Given the description of an element on the screen output the (x, y) to click on. 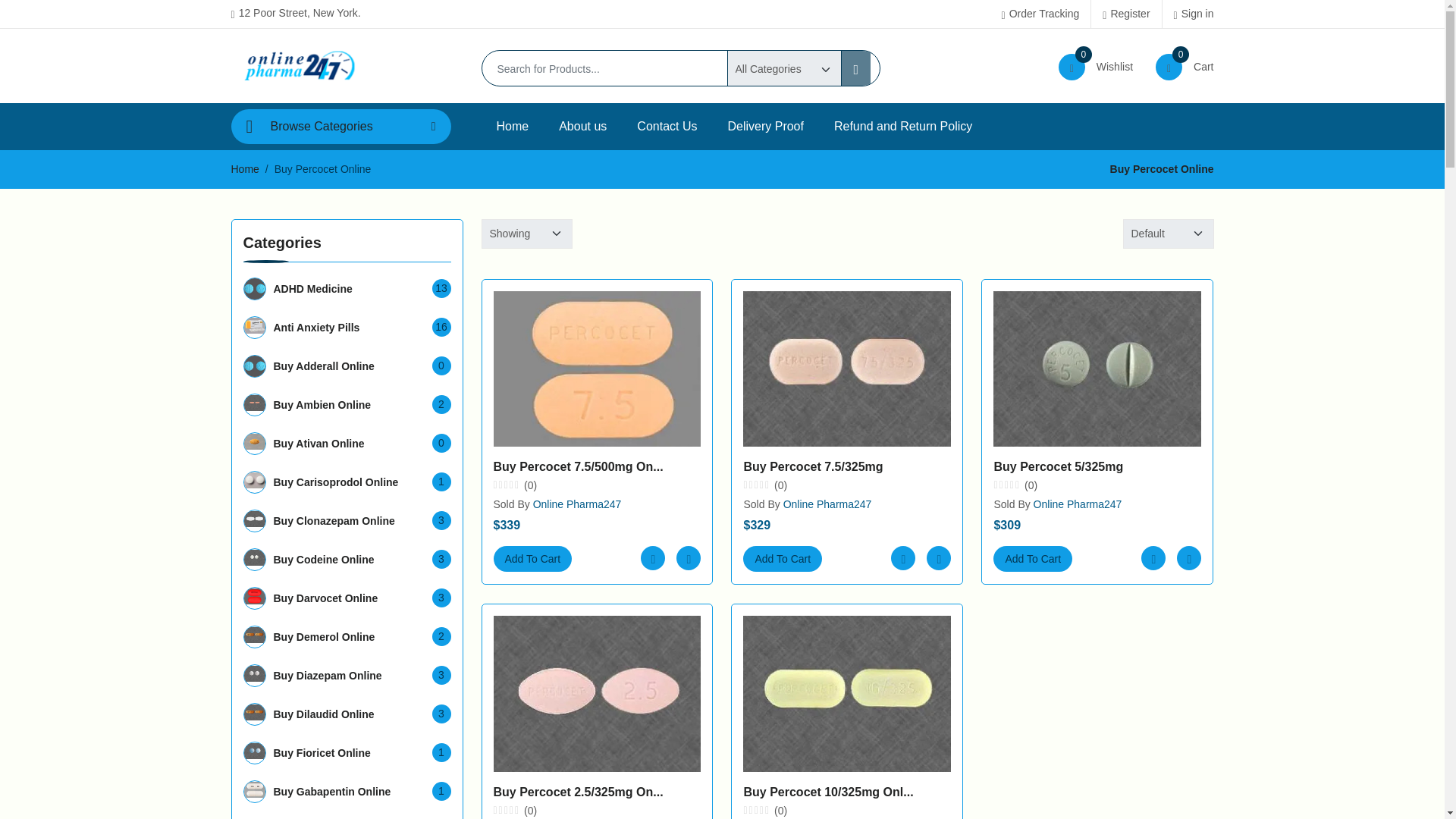
Order Tracking (1040, 14)
Register (1126, 14)
